Given the description of an element on the screen output the (x, y) to click on. 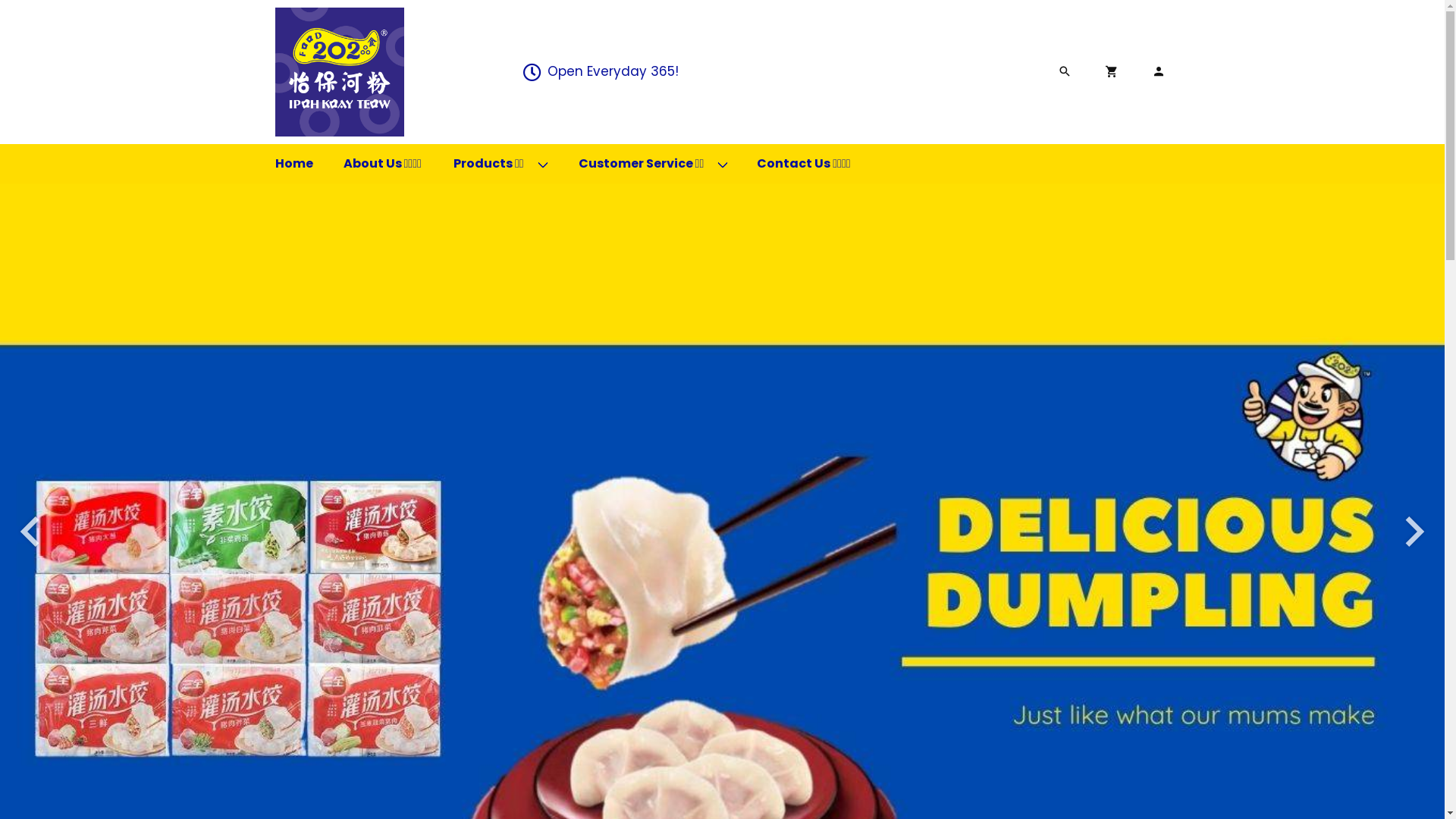
Home Element type: text (293, 163)
Previous Element type: text (30, 531)
Next Element type: text (1413, 531)
202 Online Store Element type: hover (338, 72)
